Given the description of an element on the screen output the (x, y) to click on. 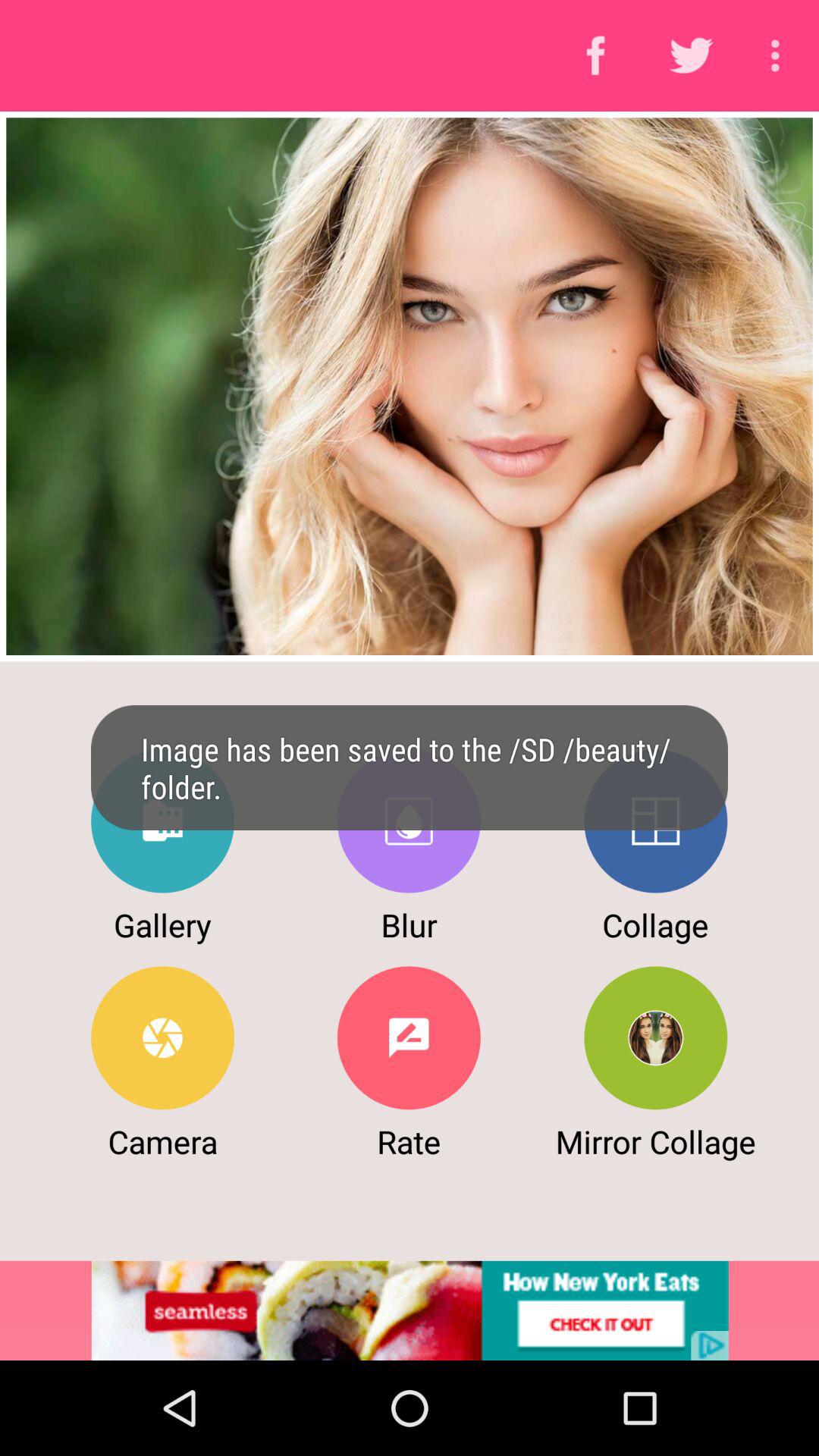
advertisement (409, 1310)
